Given the description of an element on the screen output the (x, y) to click on. 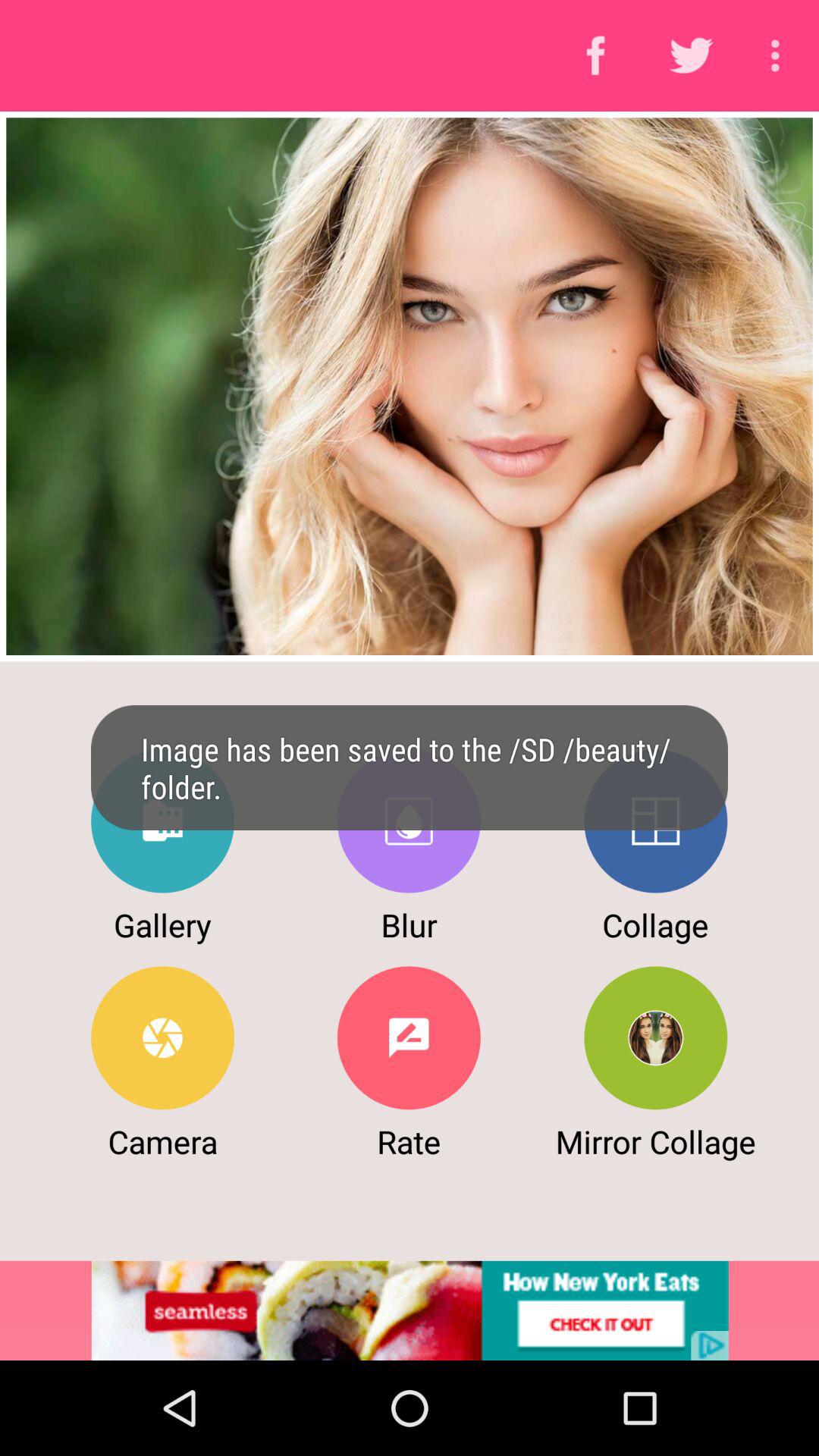
advertisement (409, 1310)
